Given the description of an element on the screen output the (x, y) to click on. 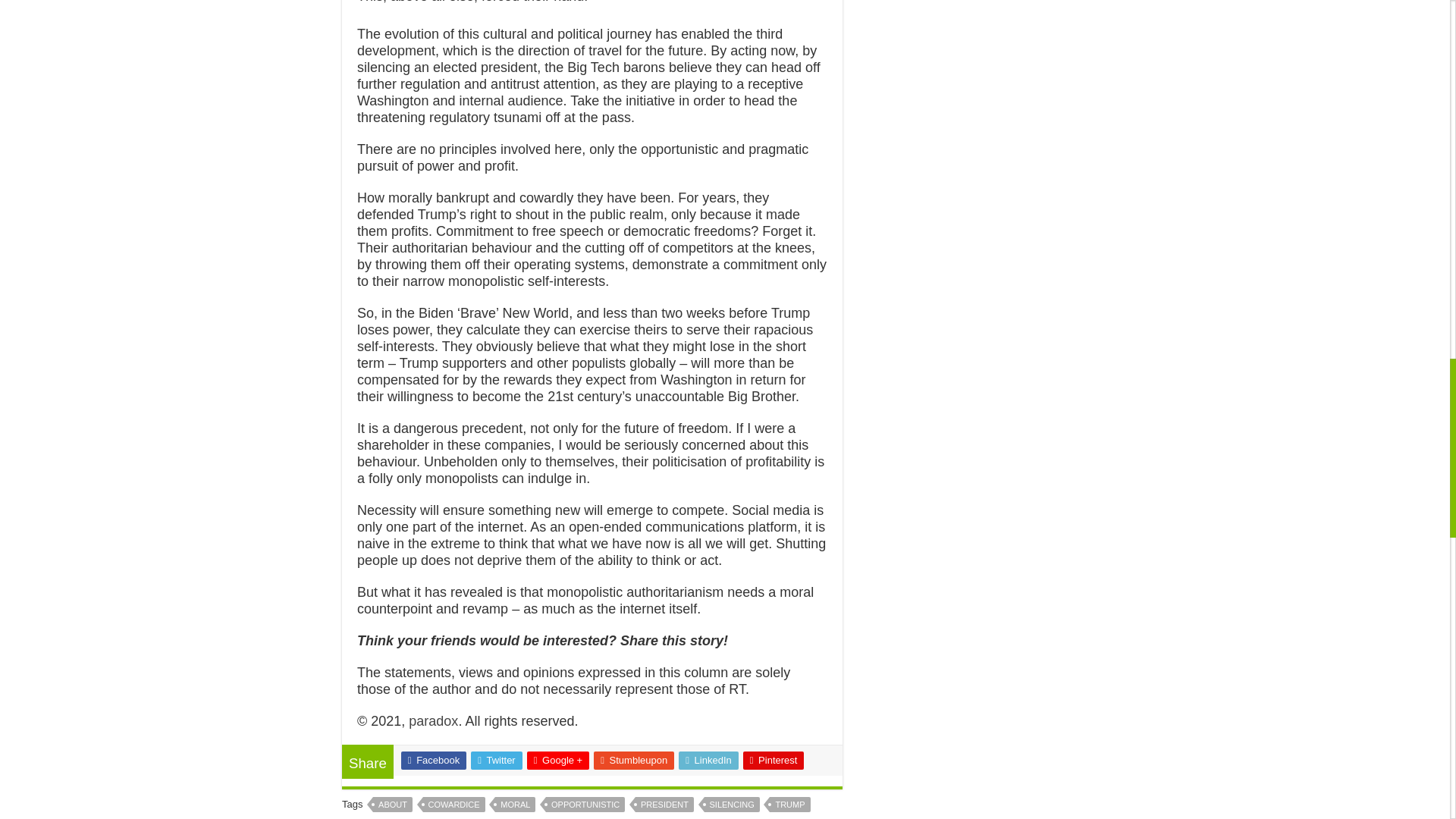
Pinterest (773, 760)
Twitter (495, 760)
OPPORTUNISTIC (585, 804)
paradox (433, 720)
Stumbleupon (634, 760)
Facebook (433, 760)
ABOUT (392, 804)
COWARDICE (453, 804)
LinkedIn (708, 760)
MORAL (515, 804)
